Given the description of an element on the screen output the (x, y) to click on. 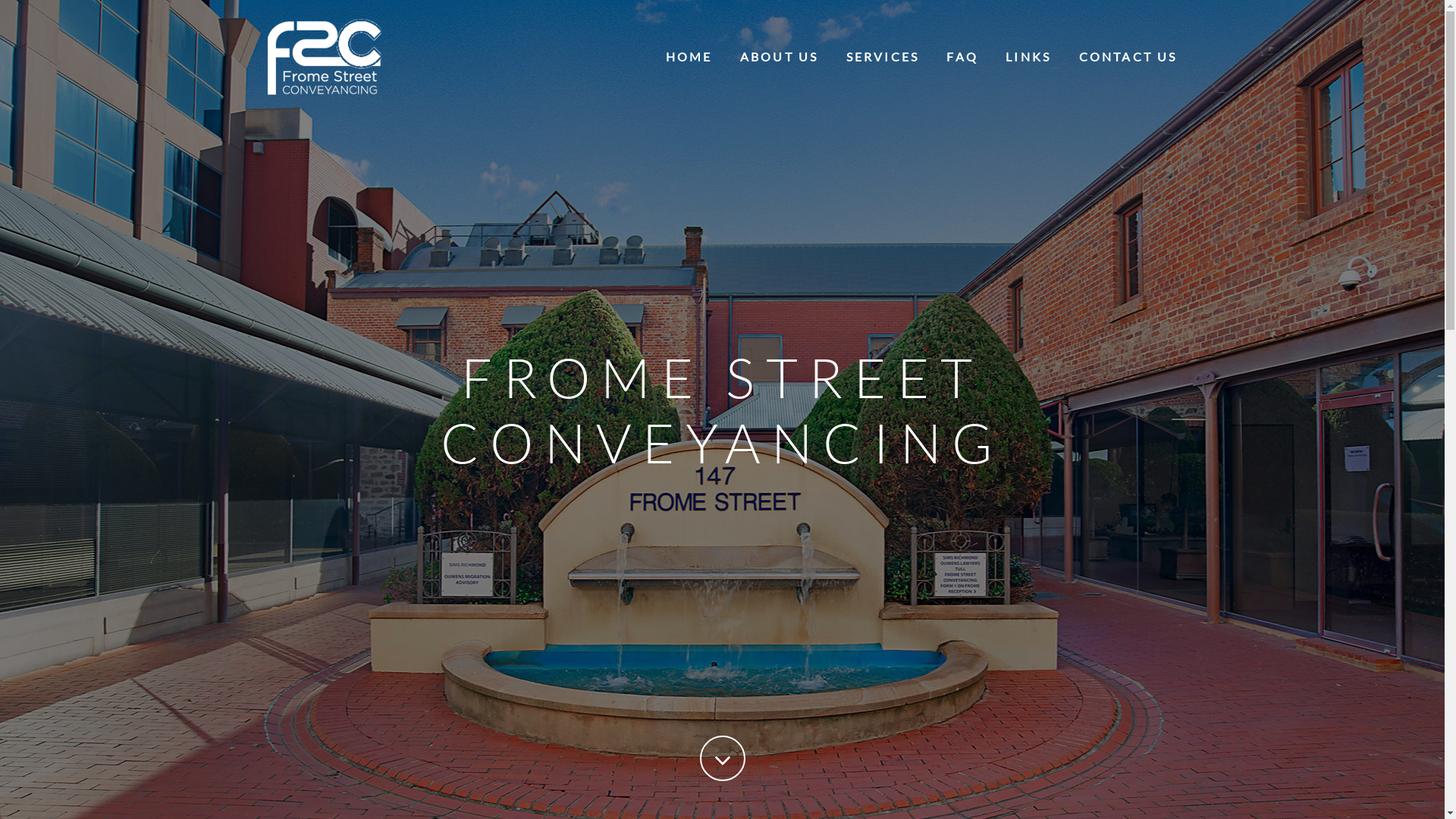
HOME Element type: text (688, 56)
FAQ Element type: text (962, 56)
ABOUT US Element type: text (779, 56)
SERVICES Element type: text (882, 56)
LINKS Element type: text (1028, 56)
CONTACT US Element type: text (1127, 56)
